Given the description of an element on the screen output the (x, y) to click on. 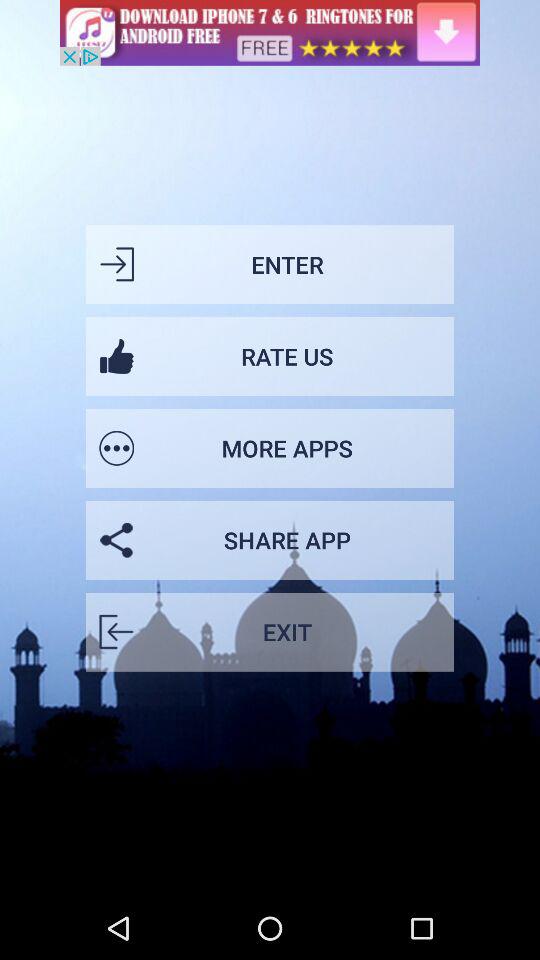
details about advertisement (270, 32)
